Given the description of an element on the screen output the (x, y) to click on. 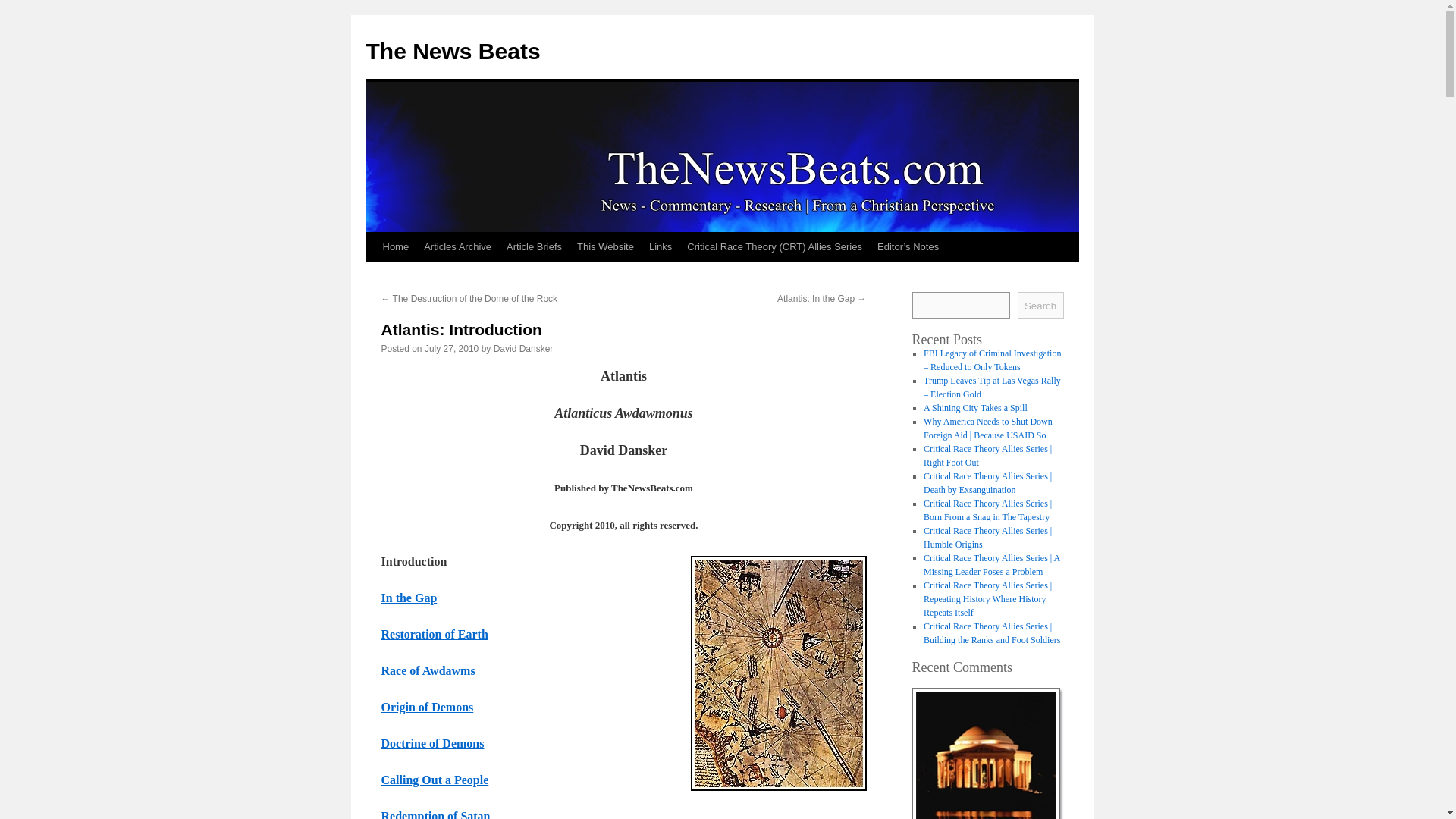
Race of Awdawms (427, 670)
Doctrine of Demons (431, 743)
Redemption of Satan (434, 814)
In the Gap (408, 597)
Calling Out a People (433, 779)
Links (660, 246)
The News Beats (452, 50)
July 27, 2010 (452, 348)
Article Briefs (534, 246)
Articles Archive (457, 246)
Origin of Demons (426, 707)
8:22 am (452, 348)
Home (395, 246)
View all posts by David Dansker (523, 348)
Restoration of Earth (433, 634)
